Given the description of an element on the screen output the (x, y) to click on. 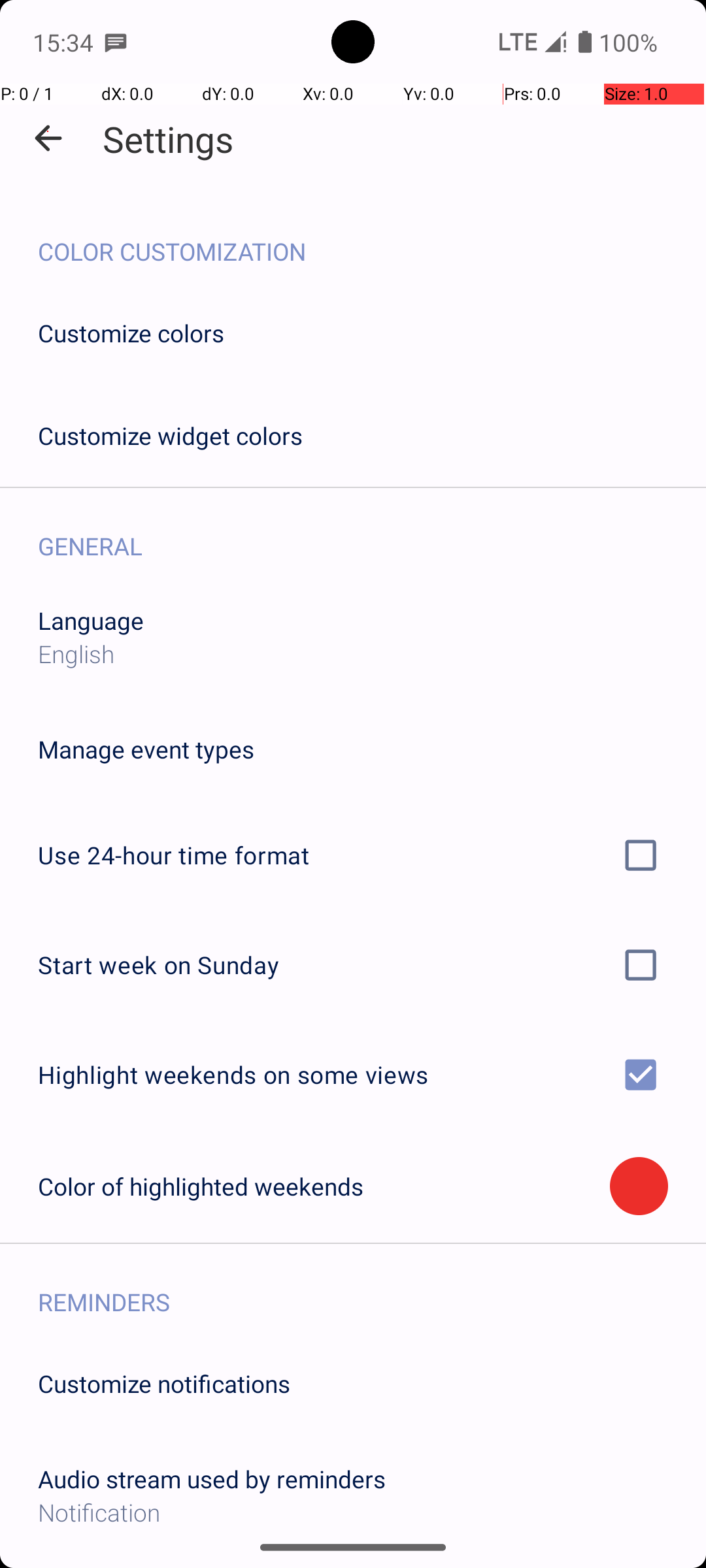
Color of highlighted weekends Element type: android.widget.TextView (323, 1186)
